Given the description of an element on the screen output the (x, y) to click on. 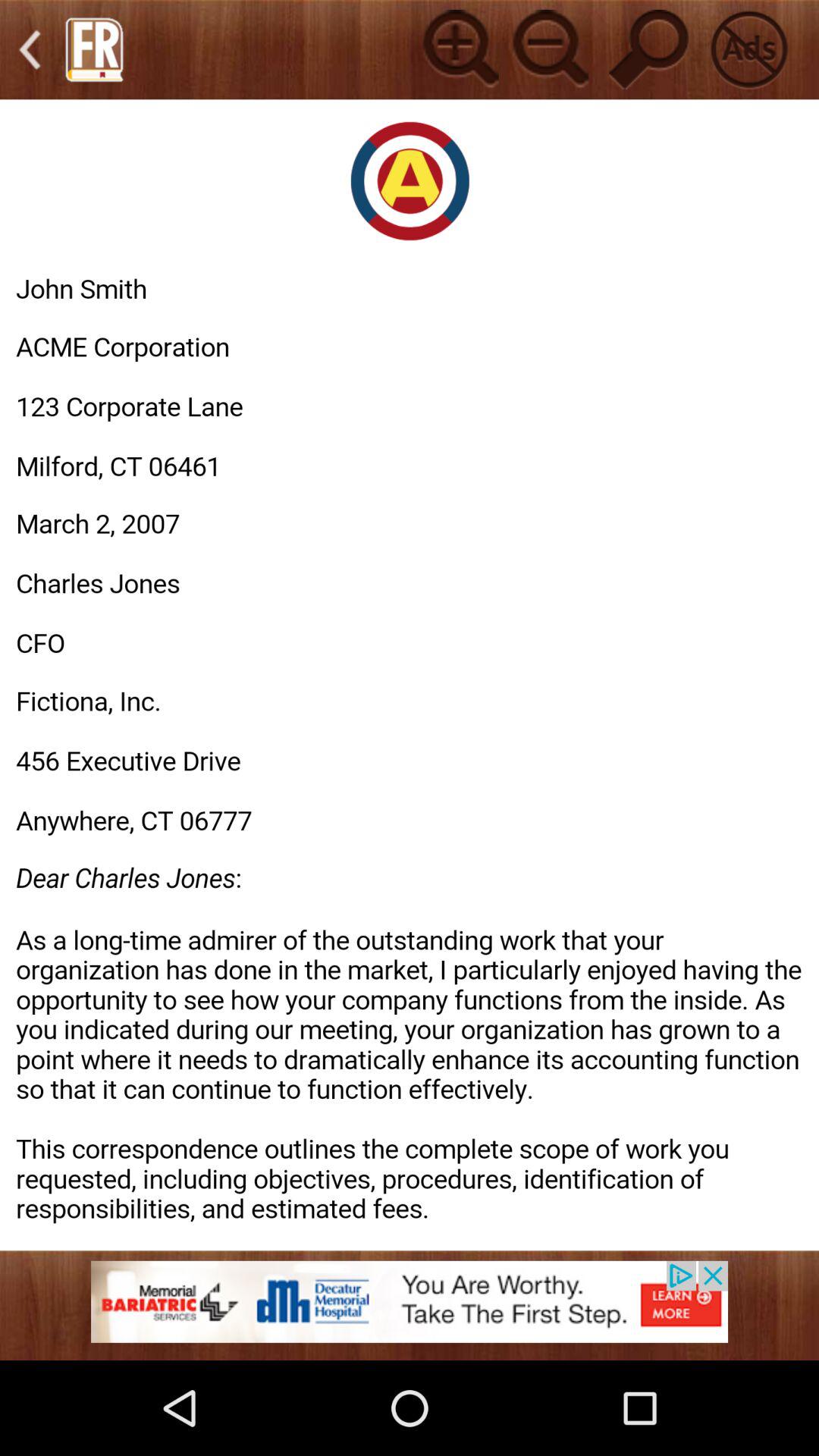
open advertisement (409, 1310)
